Given the description of an element on the screen output the (x, y) to click on. 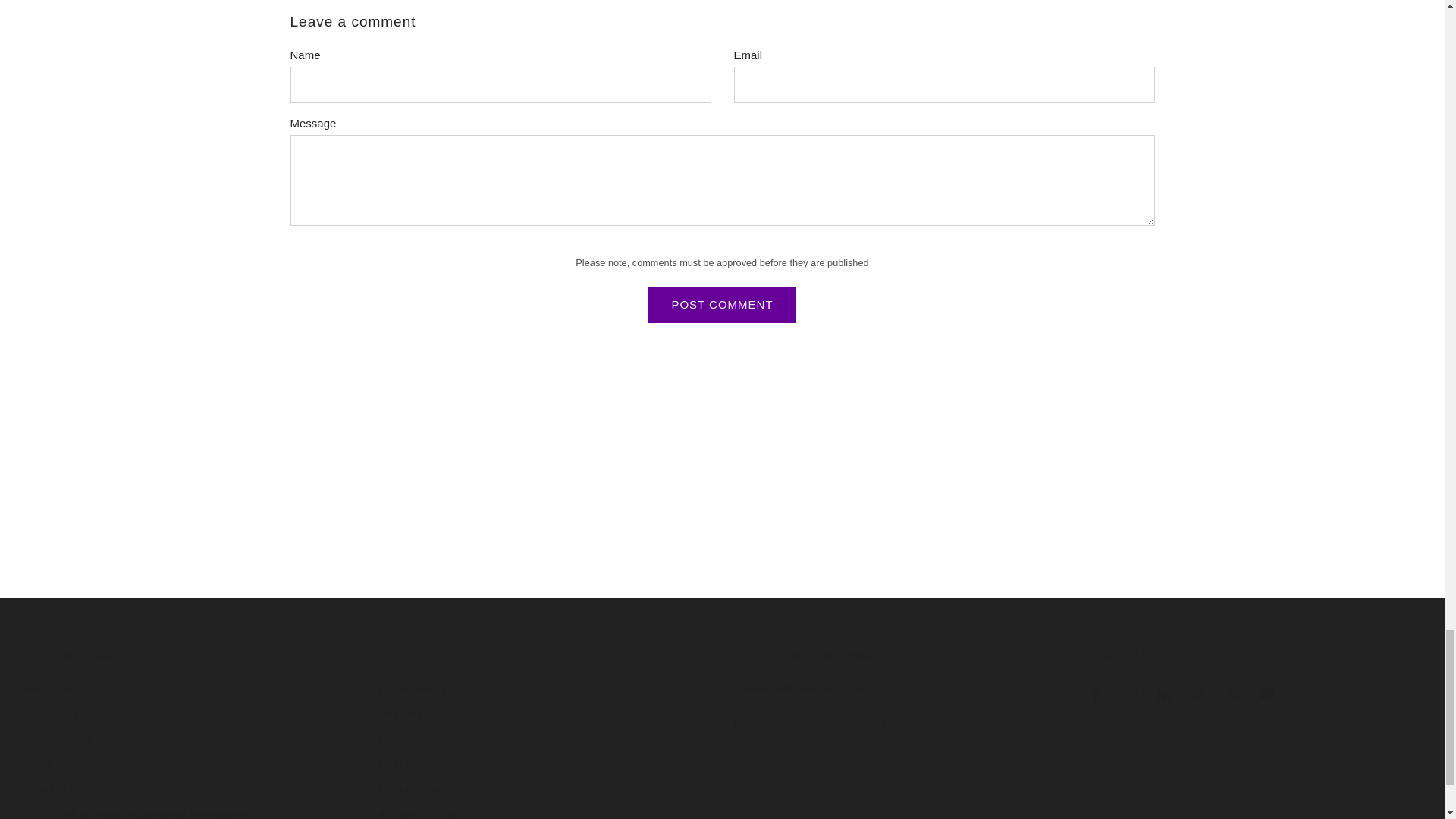
Post comment (720, 304)
